Given the description of an element on the screen output the (x, y) to click on. 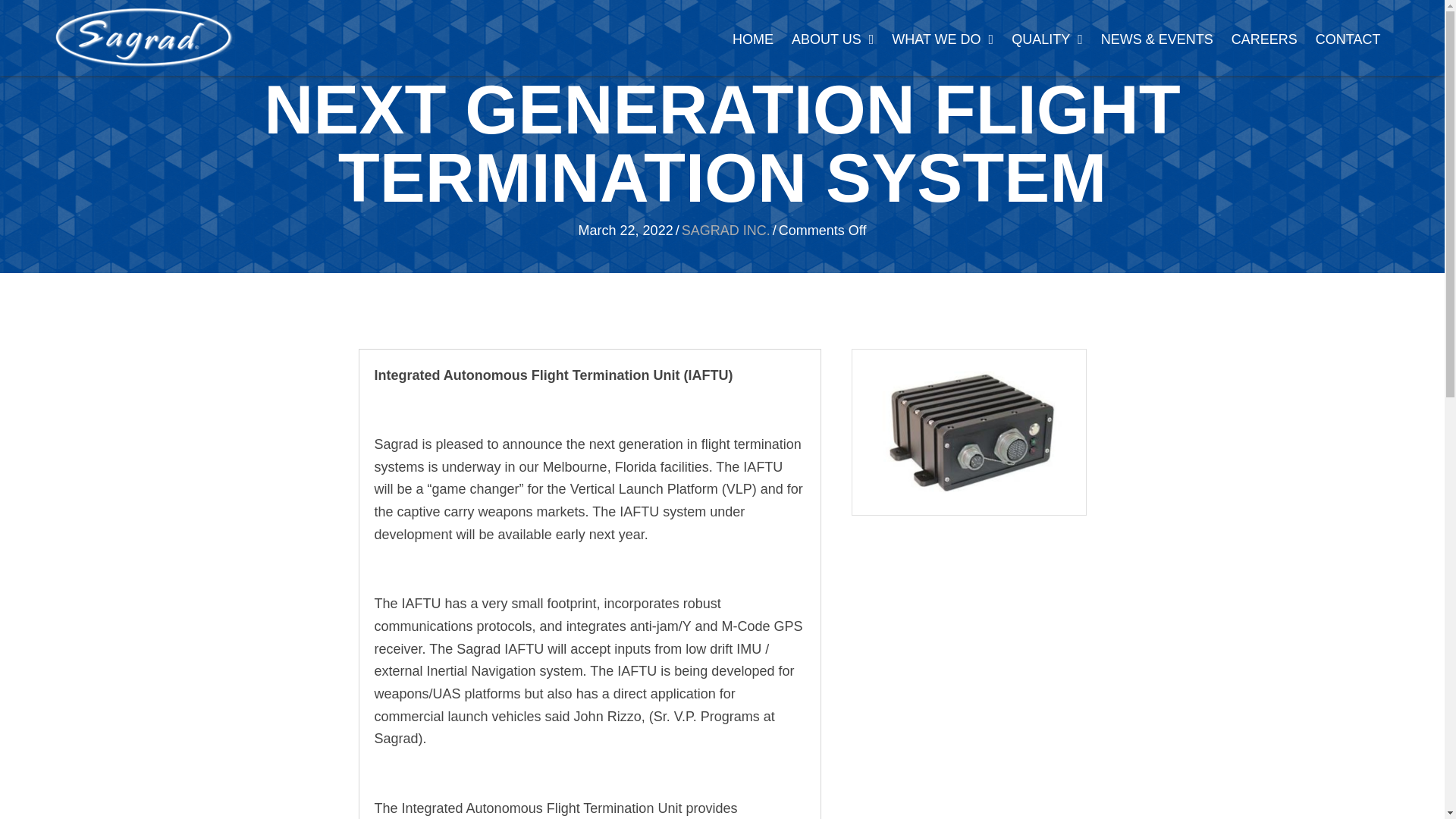
SAGRAD INC. (143, 37)
QUALITY (1047, 39)
CAREERS (1264, 39)
CONTACT (1348, 39)
Usable electronic appliance (968, 432)
SAGRAD INC. (725, 230)
ABOUT US (832, 39)
HOME (752, 39)
WHAT WE DO (941, 39)
